Given the description of an element on the screen output the (x, y) to click on. 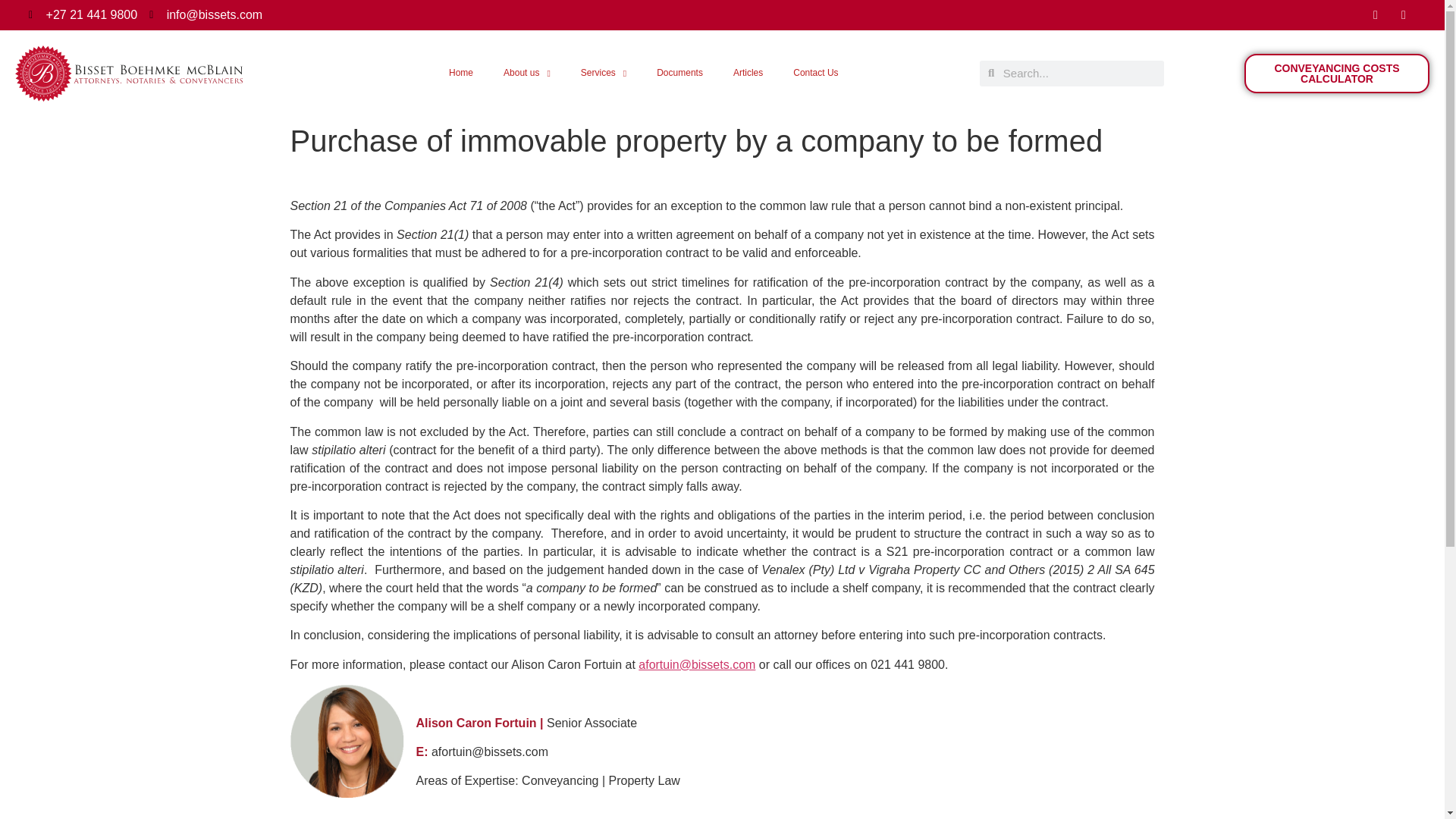
Home (460, 72)
Documents (679, 72)
Services (604, 72)
About us (526, 72)
Contact Us (815, 72)
Articles (747, 72)
